Given the description of an element on the screen output the (x, y) to click on. 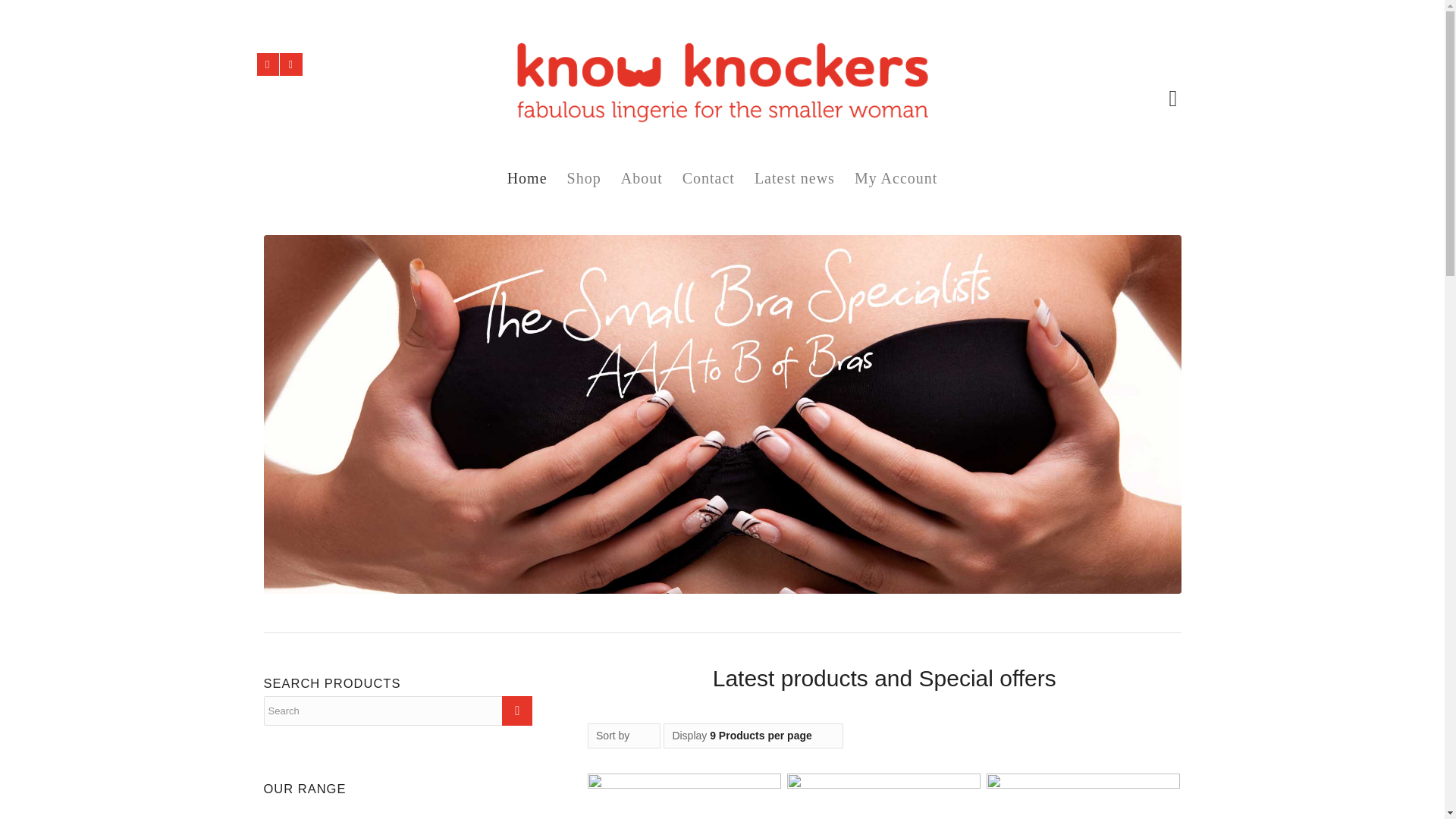
Home (527, 177)
Instagram (267, 64)
About (641, 177)
Know-Knocker-logo-website-lrg-no (722, 97)
Contact (708, 177)
Facebook (290, 64)
My Account (895, 177)
Latest news (794, 177)
KK Exclusives (310, 810)
Shop (584, 177)
Know-Knocker-logo-website-lrg-no (722, 87)
